Given the description of an element on the screen output the (x, y) to click on. 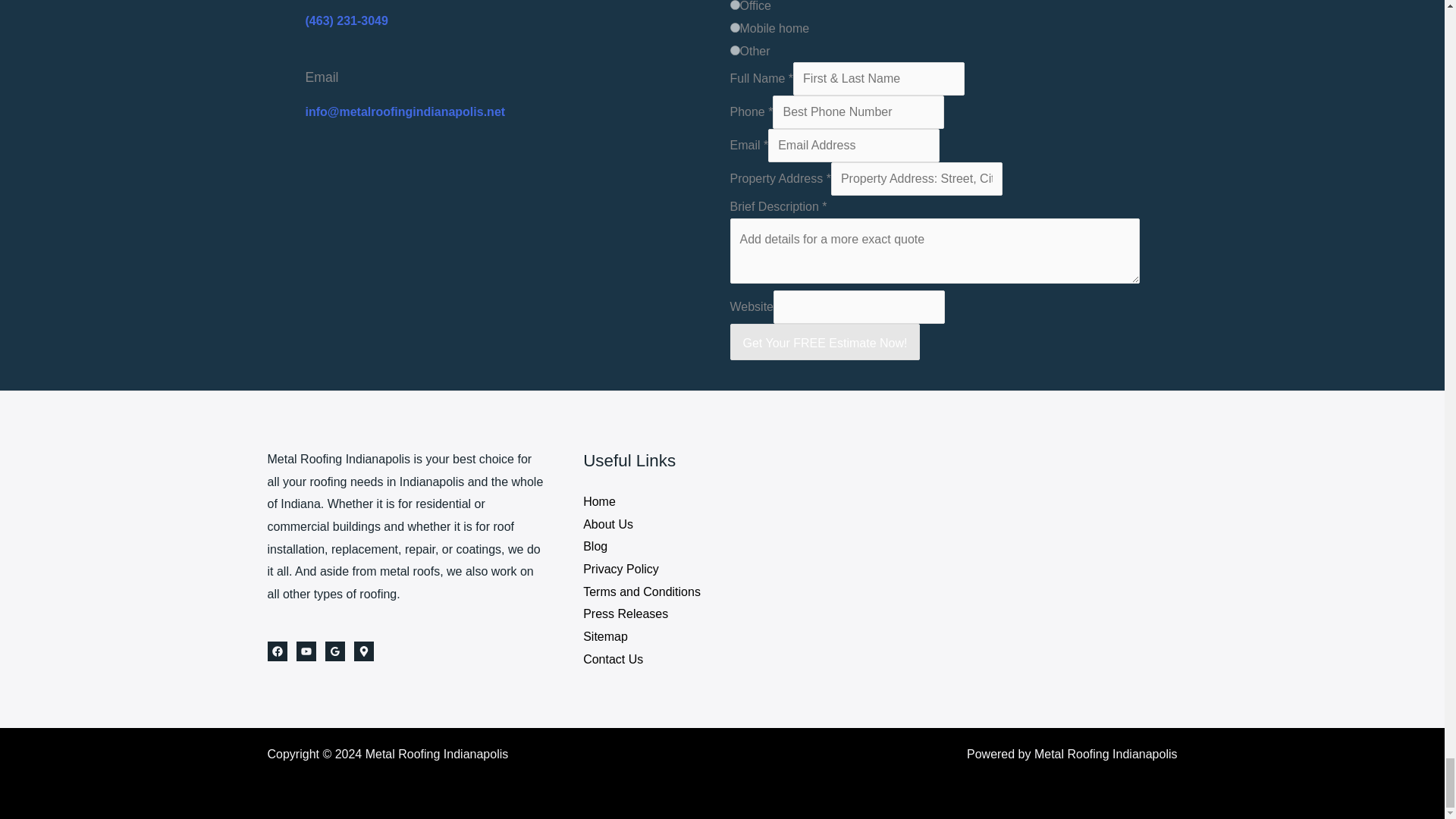
Mobile home (734, 27)
Other (734, 50)
Office (734, 4)
